Given the description of an element on the screen output the (x, y) to click on. 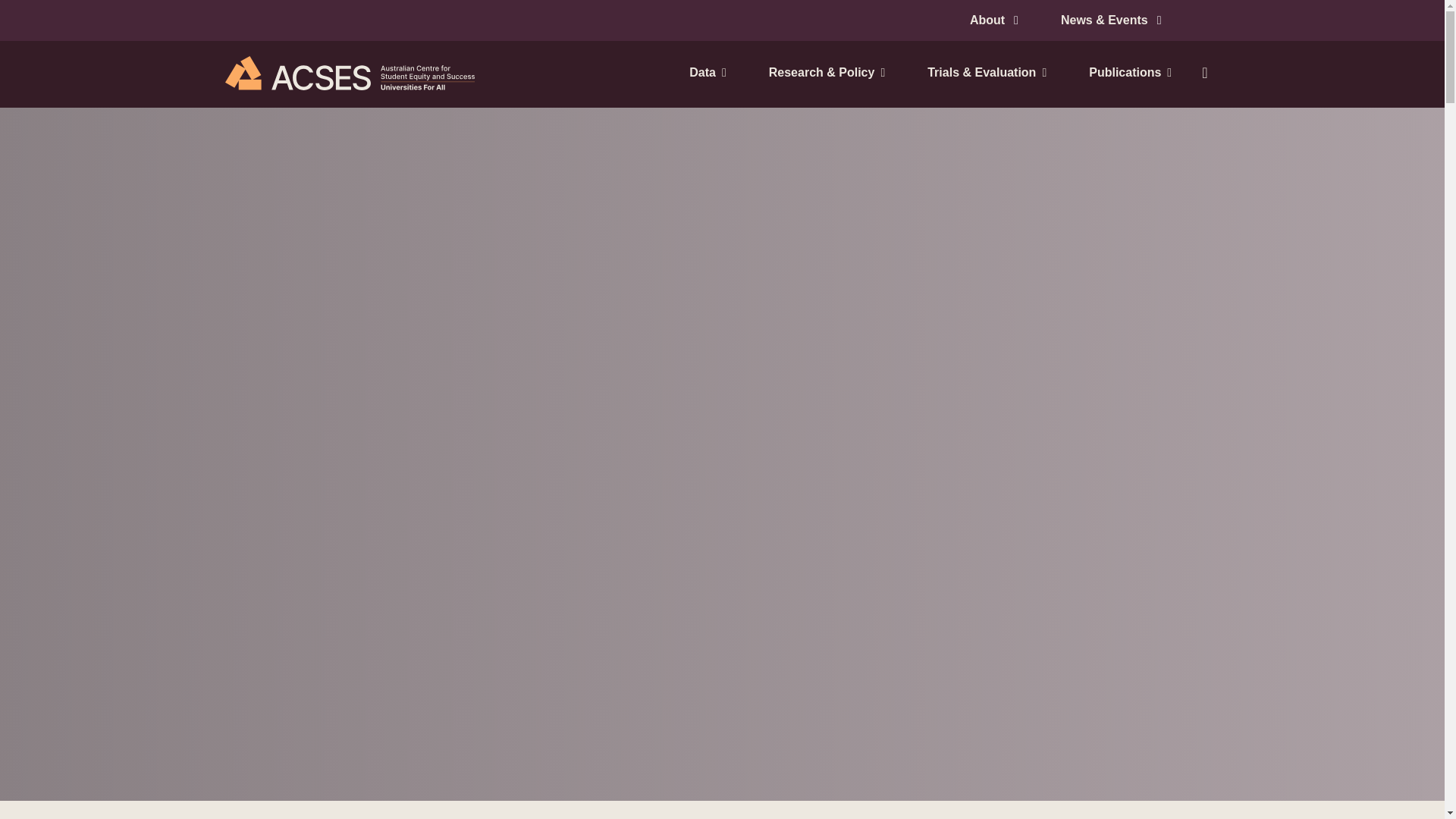
Publications (1124, 72)
About (993, 20)
Data (707, 72)
